Given the description of an element on the screen output the (x, y) to click on. 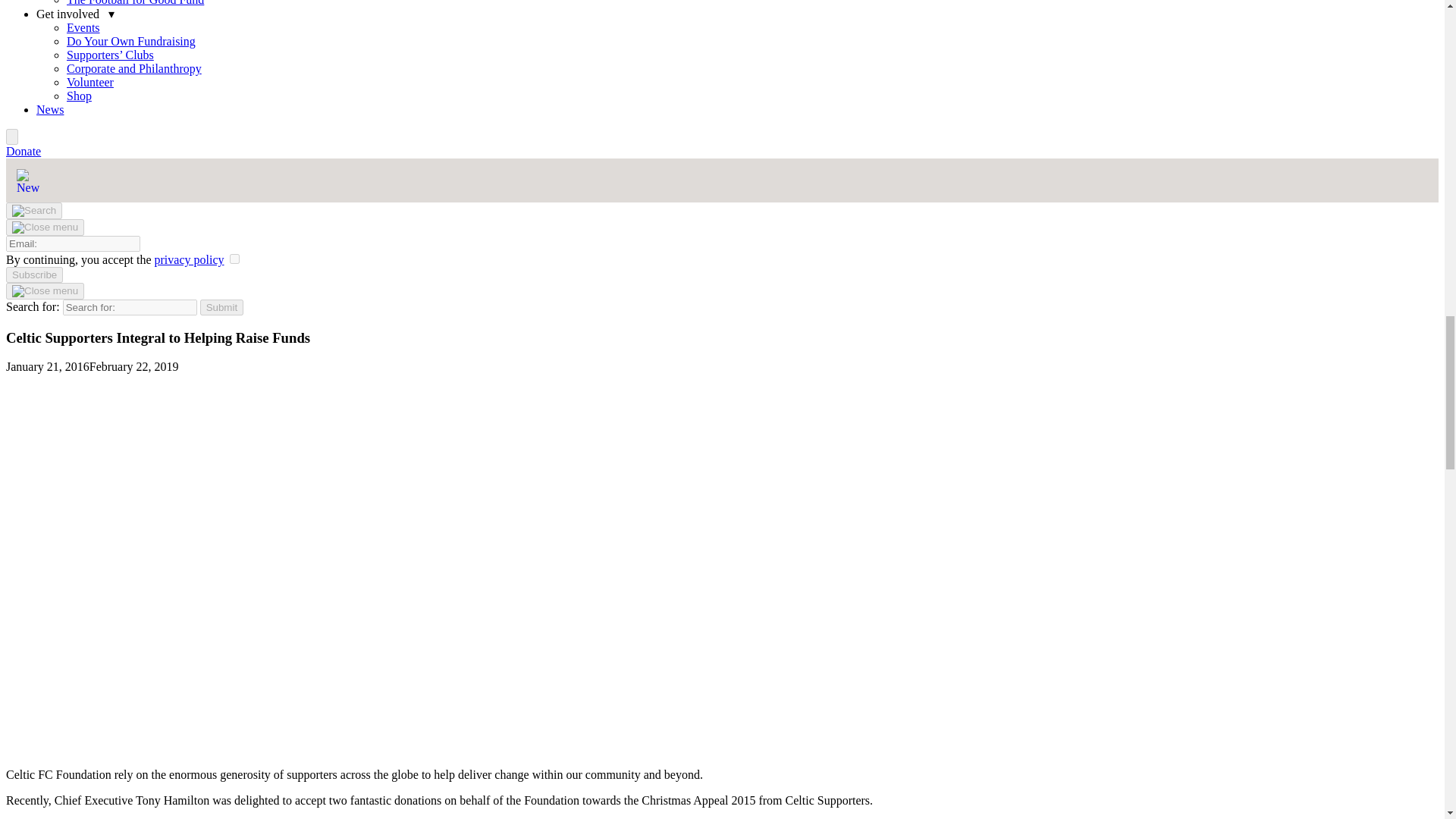
Events (83, 27)
Submit (221, 307)
privacy policy (189, 259)
Shop (78, 95)
Find out how to show your support (22, 151)
Submit (221, 307)
on (235, 258)
Subscribe (33, 274)
Corporate and Philanthropy (134, 68)
Subscribe (33, 274)
The Football for Good Fund (134, 2)
News (50, 109)
Do Your Own Fundraising (130, 41)
Submit (221, 307)
Search for: (129, 307)
